Given the description of an element on the screen output the (x, y) to click on. 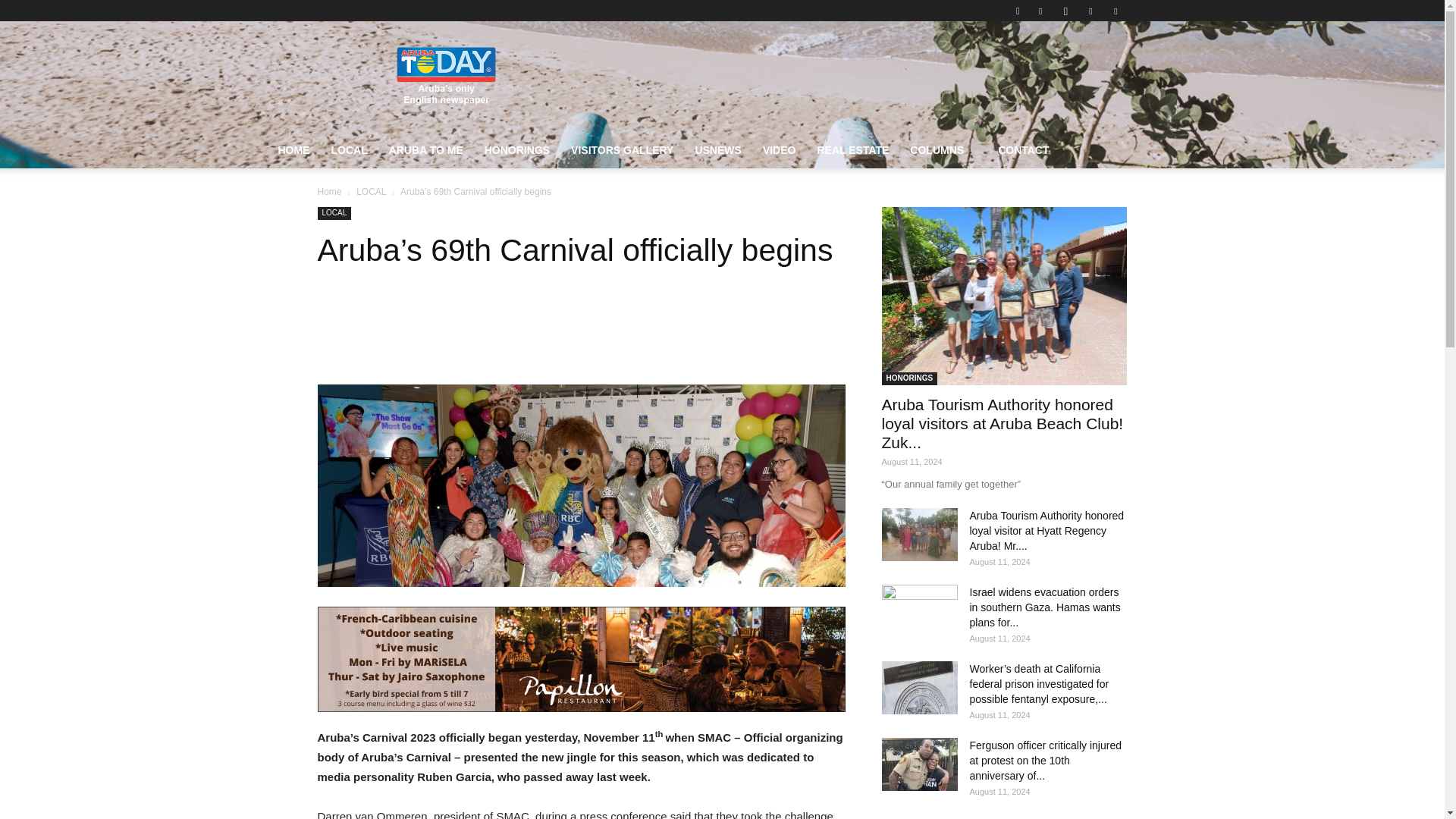
View all posts in LOCAL (370, 191)
HONORINGS (517, 149)
ARUBA TO ME (426, 149)
Mail (1090, 10)
HOME (293, 149)
Facebook (1040, 10)
LOCAL (348, 149)
Search (1085, 64)
VISITORS GALLERY (622, 149)
Youtube (1114, 10)
